Given the description of an element on the screen output the (x, y) to click on. 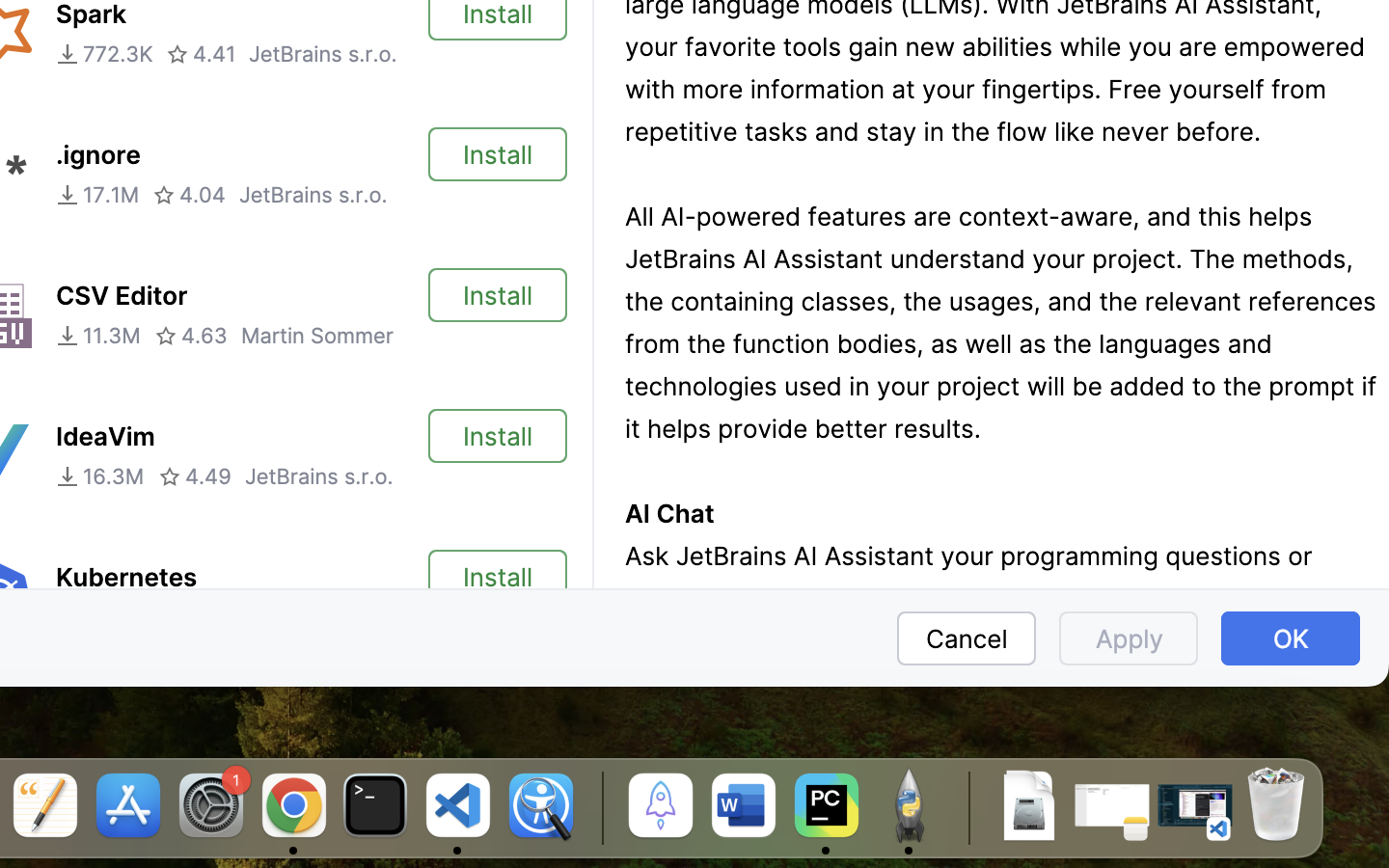
3.81 Element type: AXStaticText (181, 616)
0.4285714328289032 Element type: AXDockItem (598, 807)
6.7M Element type: AXStaticText (94, 616)
.ignore Element type: AXStaticText (97, 154)
772.3K Element type: AXStaticText (103, 53)
